Given the description of an element on the screen output the (x, y) to click on. 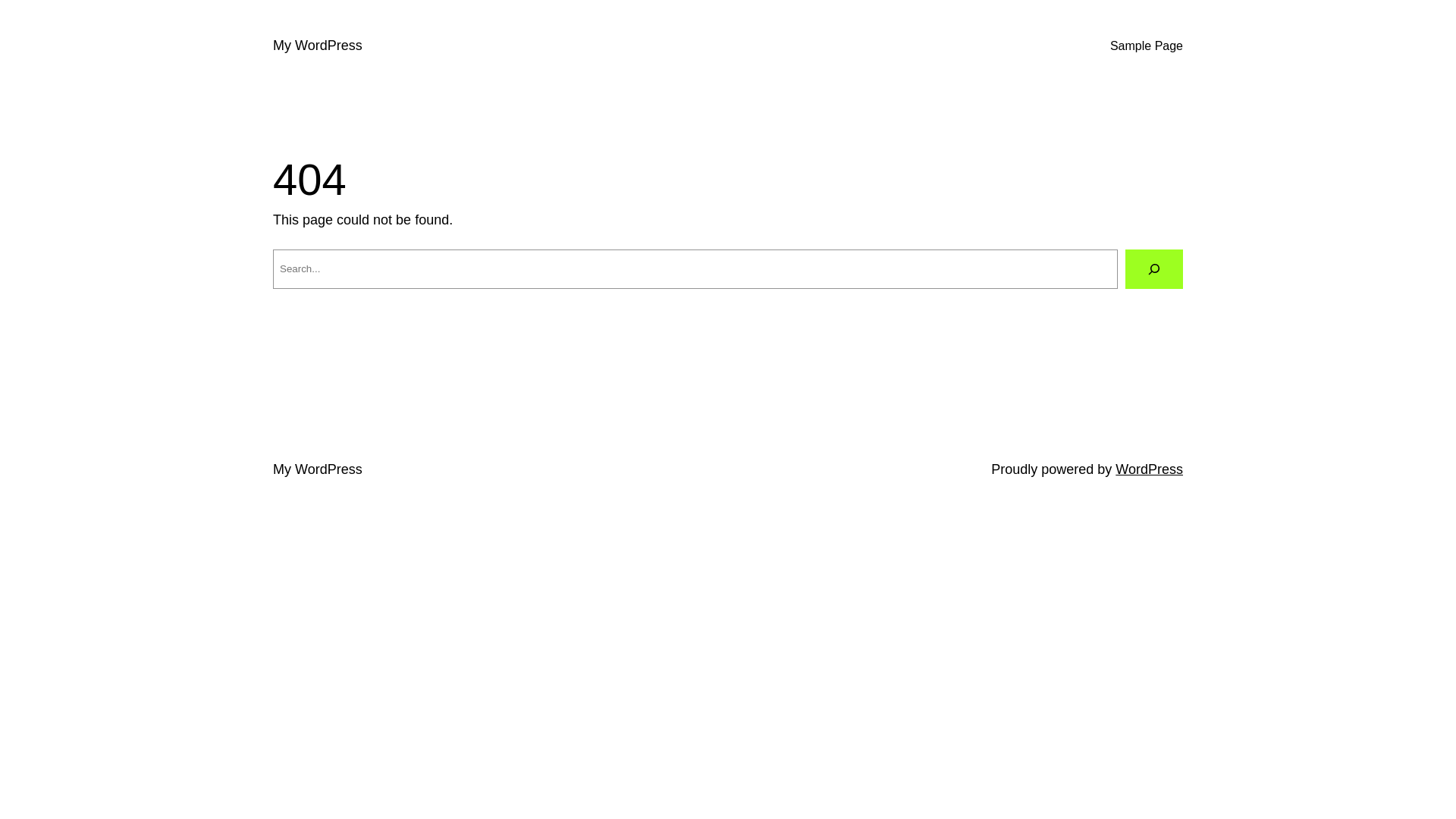
My WordPress Element type: text (317, 45)
My WordPress Element type: text (317, 468)
WordPress Element type: text (1149, 468)
Sample Page Element type: text (1146, 46)
